Given the description of an element on the screen output the (x, y) to click on. 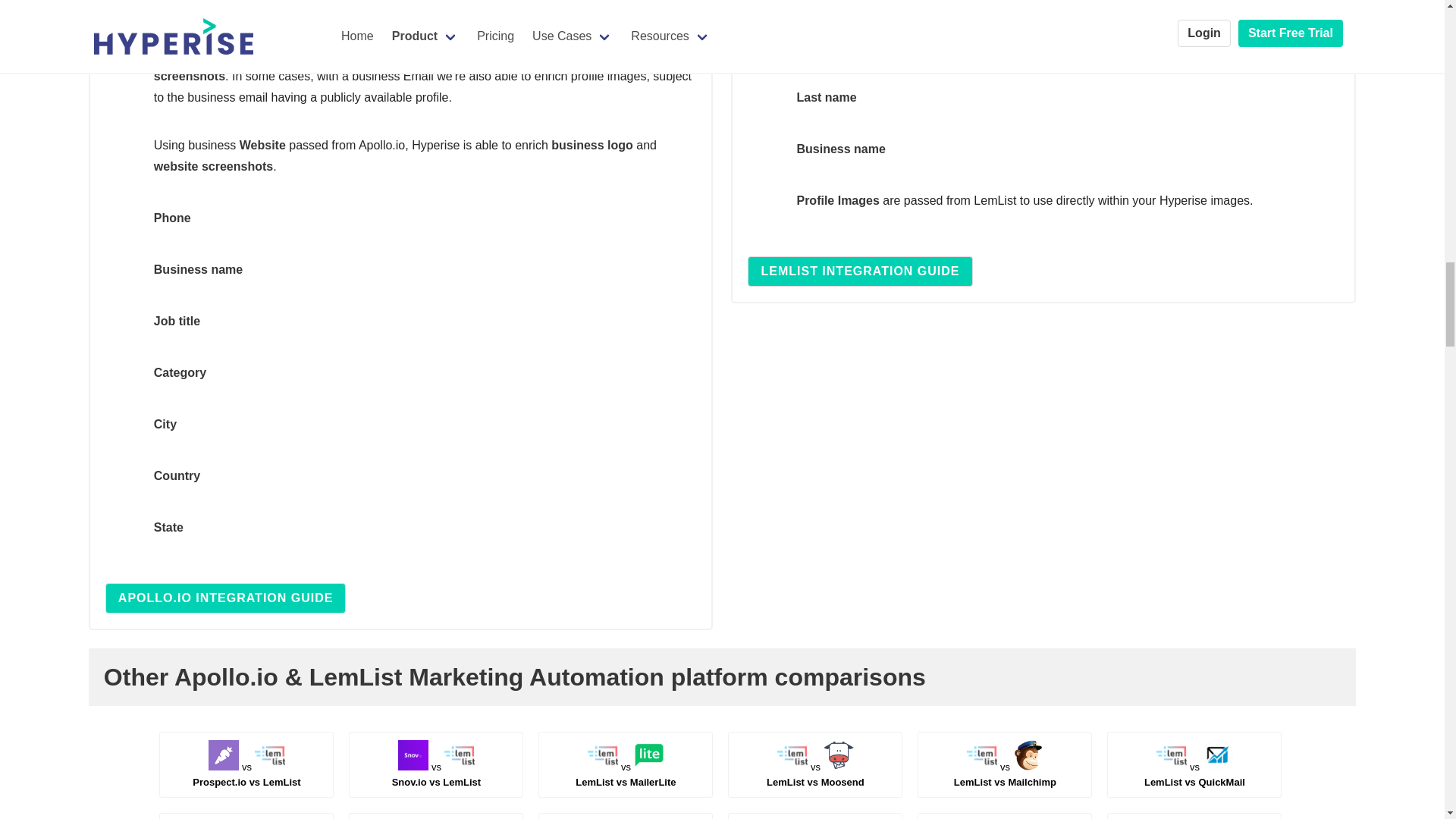
LemList vs QuickMail (1194, 774)
Snov.io vs LemList (245, 774)
LemList vs MailerLite (436, 774)
LEMLIST INTEGRATION GUIDE (625, 774)
LemList vs Mailchimp (860, 271)
LemList vs Moosend (1005, 774)
